Given the description of an element on the screen output the (x, y) to click on. 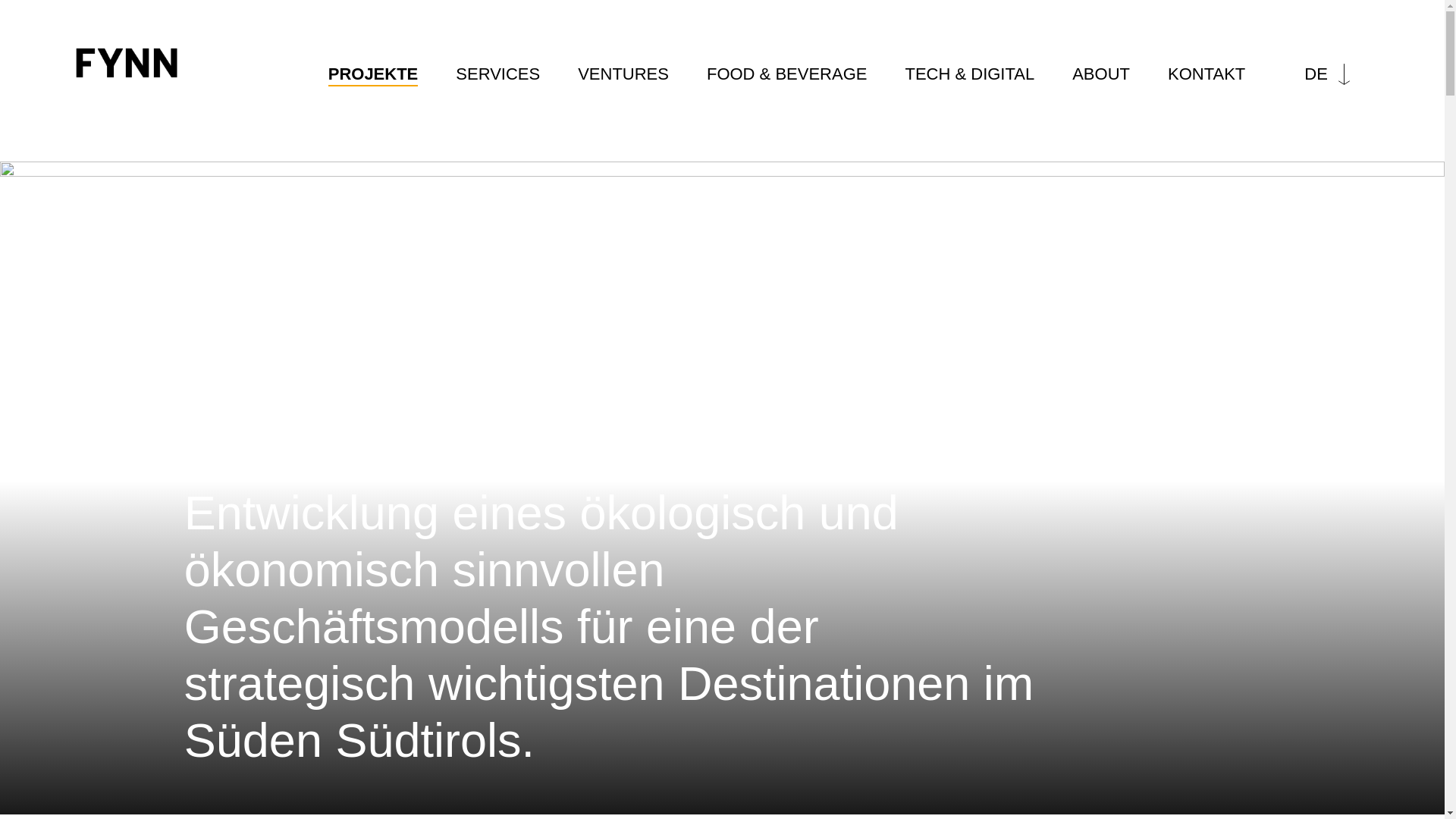
PROJEKTE Element type: text (373, 73)
ABOUT Element type: text (1101, 73)
KONTAKT Element type: text (1206, 73)
SERVICES Element type: text (497, 73)
TECH & DIGITAL Element type: text (969, 73)
DE Element type: text (1326, 73)
FOOD & BEVERAGE Element type: text (786, 73)
VENTURES Element type: text (623, 73)
